Given the description of an element on the screen output the (x, y) to click on. 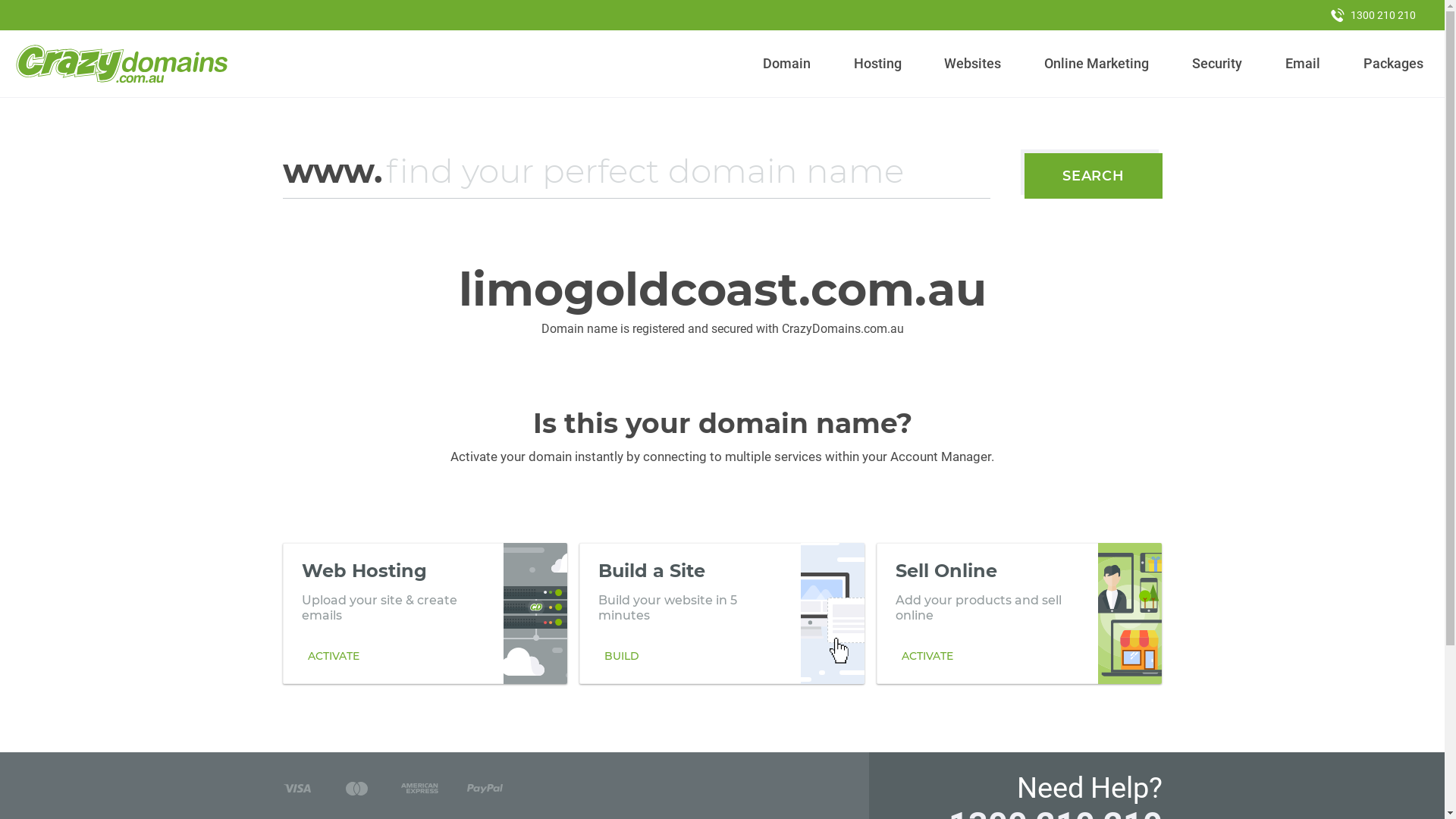
Hosting Element type: text (877, 63)
Web Hosting
Upload your site & create emails
ACTIVATE Element type: text (424, 613)
Build a Site
Build your website in 5 minutes
BUILD Element type: text (721, 613)
Packages Element type: text (1392, 63)
Email Element type: text (1302, 63)
1300 210 210 Element type: text (1373, 15)
SEARCH Element type: text (1092, 175)
Online Marketing Element type: text (1096, 63)
Security Element type: text (1217, 63)
Websites Element type: text (972, 63)
Sell Online
Add your products and sell online
ACTIVATE Element type: text (1018, 613)
Domain Element type: text (786, 63)
